Given the description of an element on the screen output the (x, y) to click on. 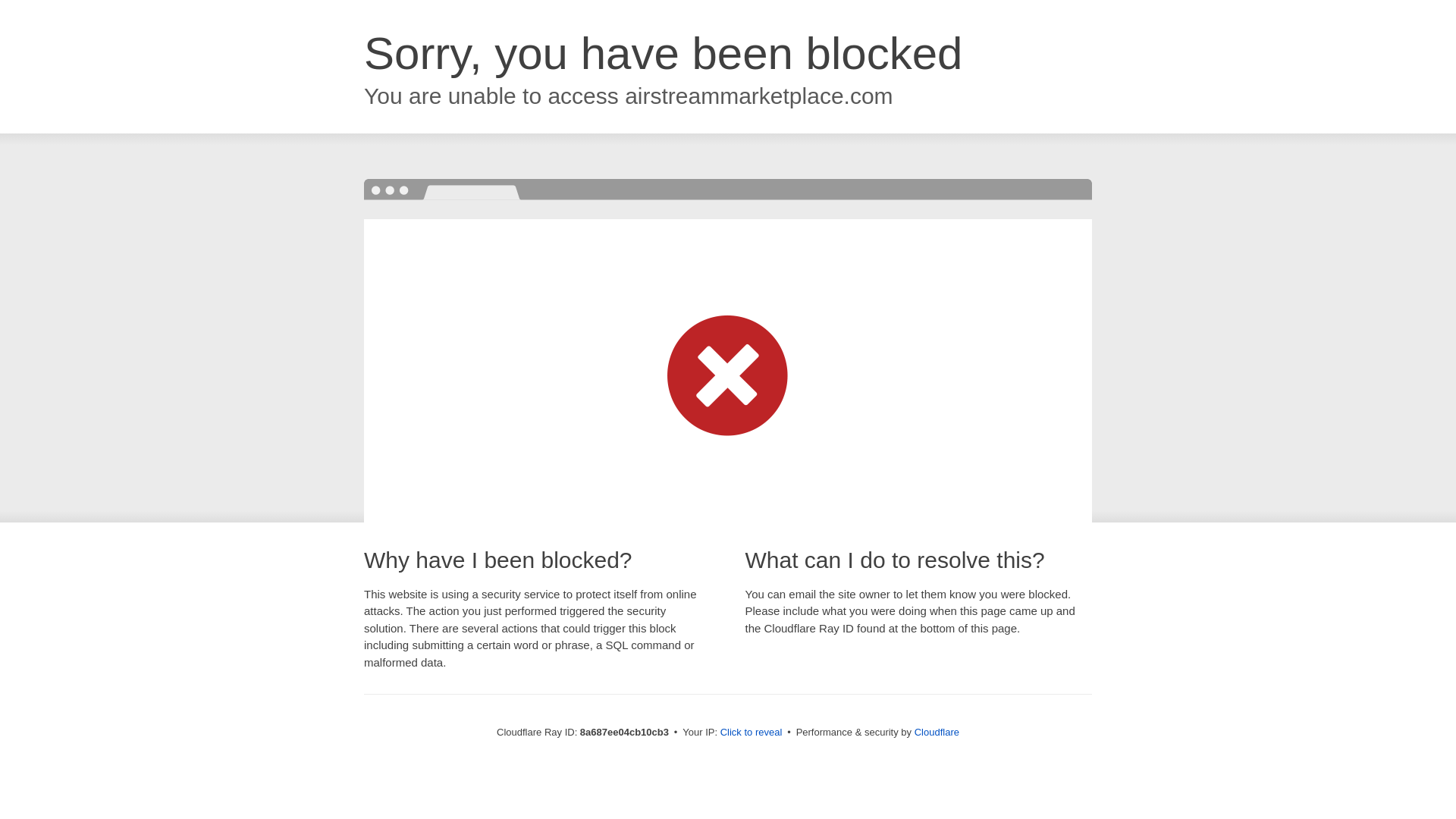
Click to reveal (751, 732)
Cloudflare (936, 731)
